Given the description of an element on the screen output the (x, y) to click on. 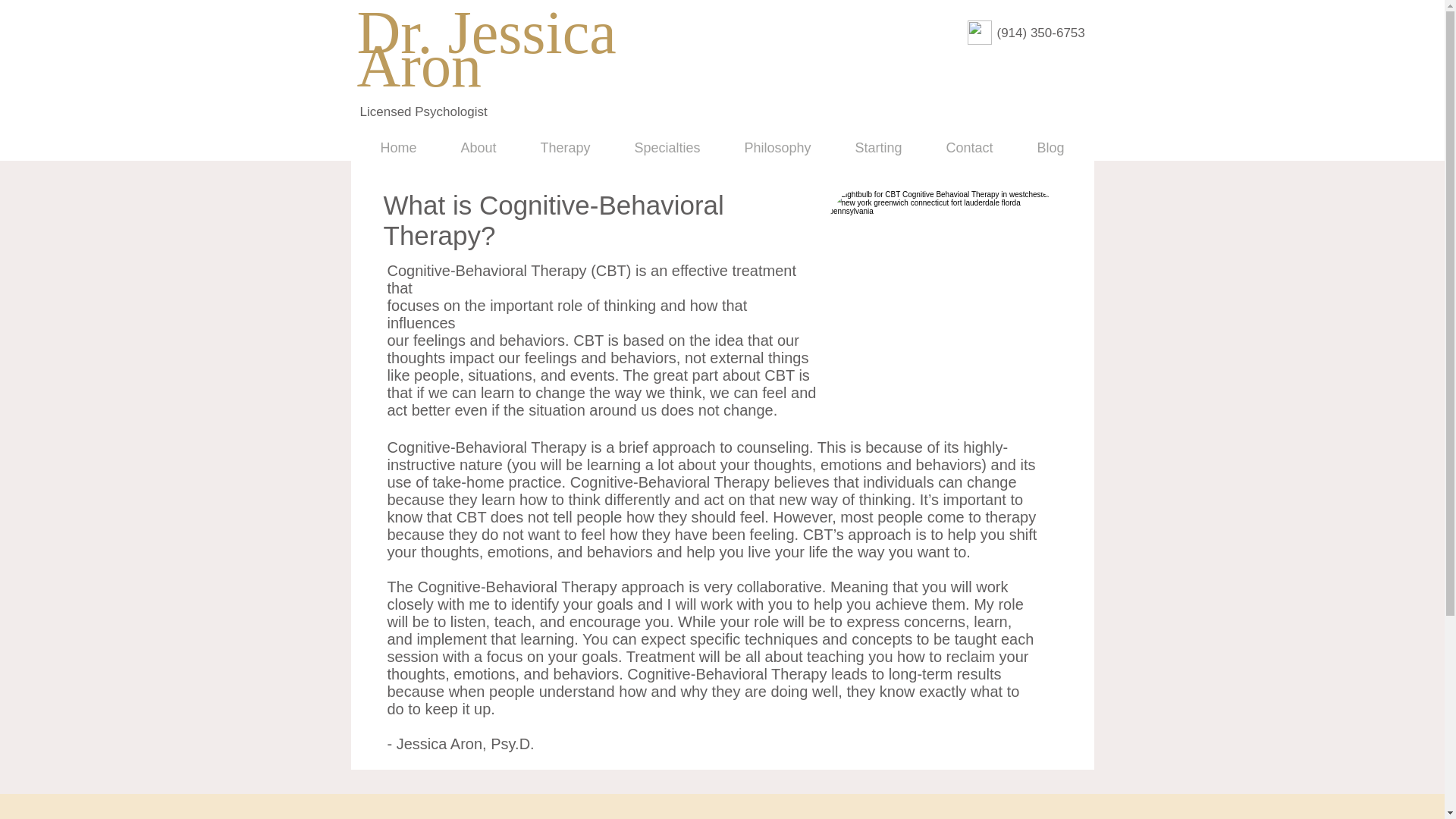
Contact (968, 147)
Home (398, 147)
Blog (1050, 147)
Starting (877, 147)
Dr. Jessica Aron (485, 49)
